Given the description of an element on the screen output the (x, y) to click on. 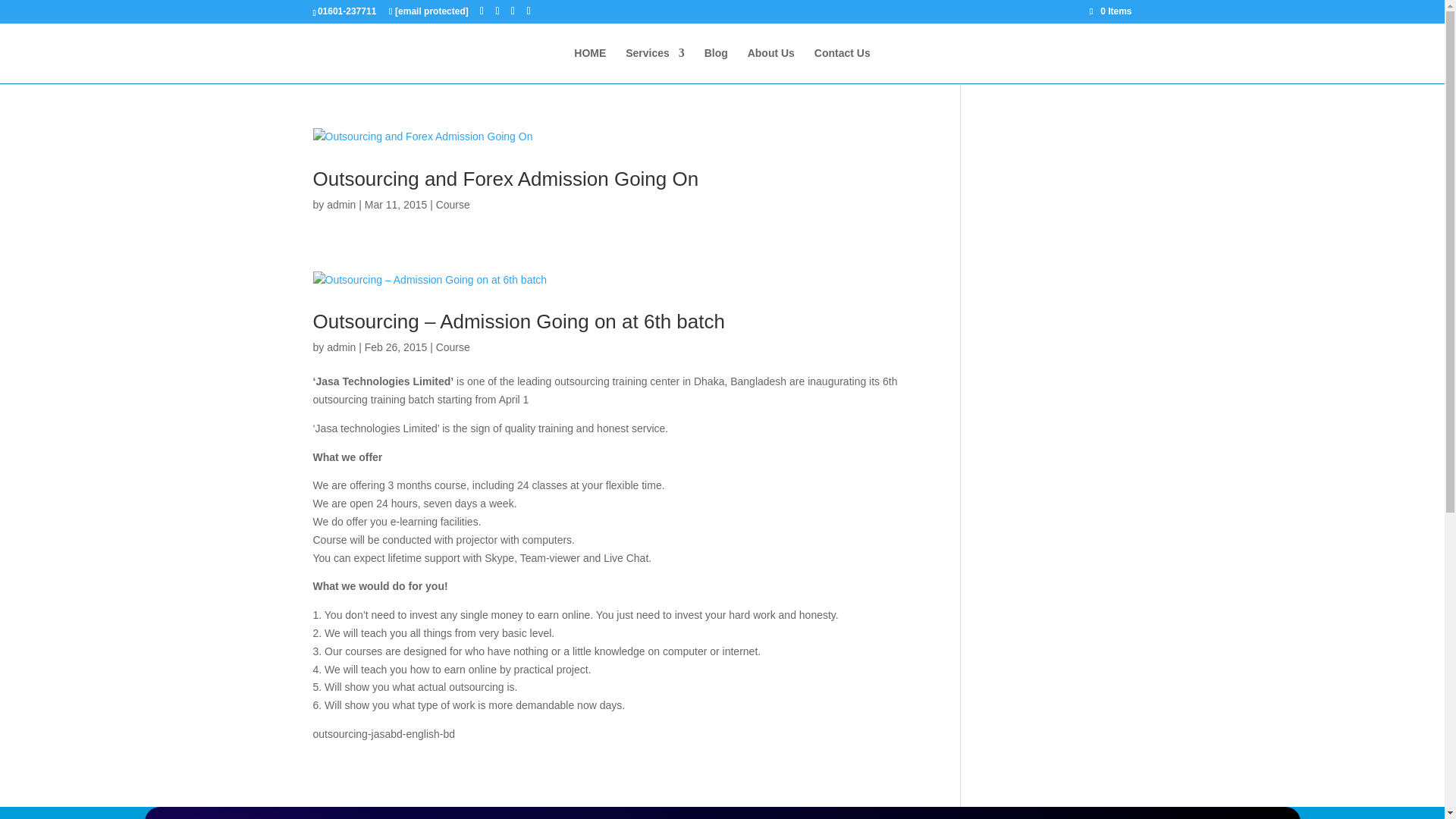
About Us (771, 65)
Services (655, 65)
0 Items (1110, 10)
Course (452, 204)
Contact Us (841, 65)
admin (340, 346)
Posts by admin (340, 204)
HOME (589, 65)
Course (452, 346)
admin (340, 204)
Outsourcing and Forex Admission Going On (505, 178)
Posts by admin (340, 346)
